Given the description of an element on the screen output the (x, y) to click on. 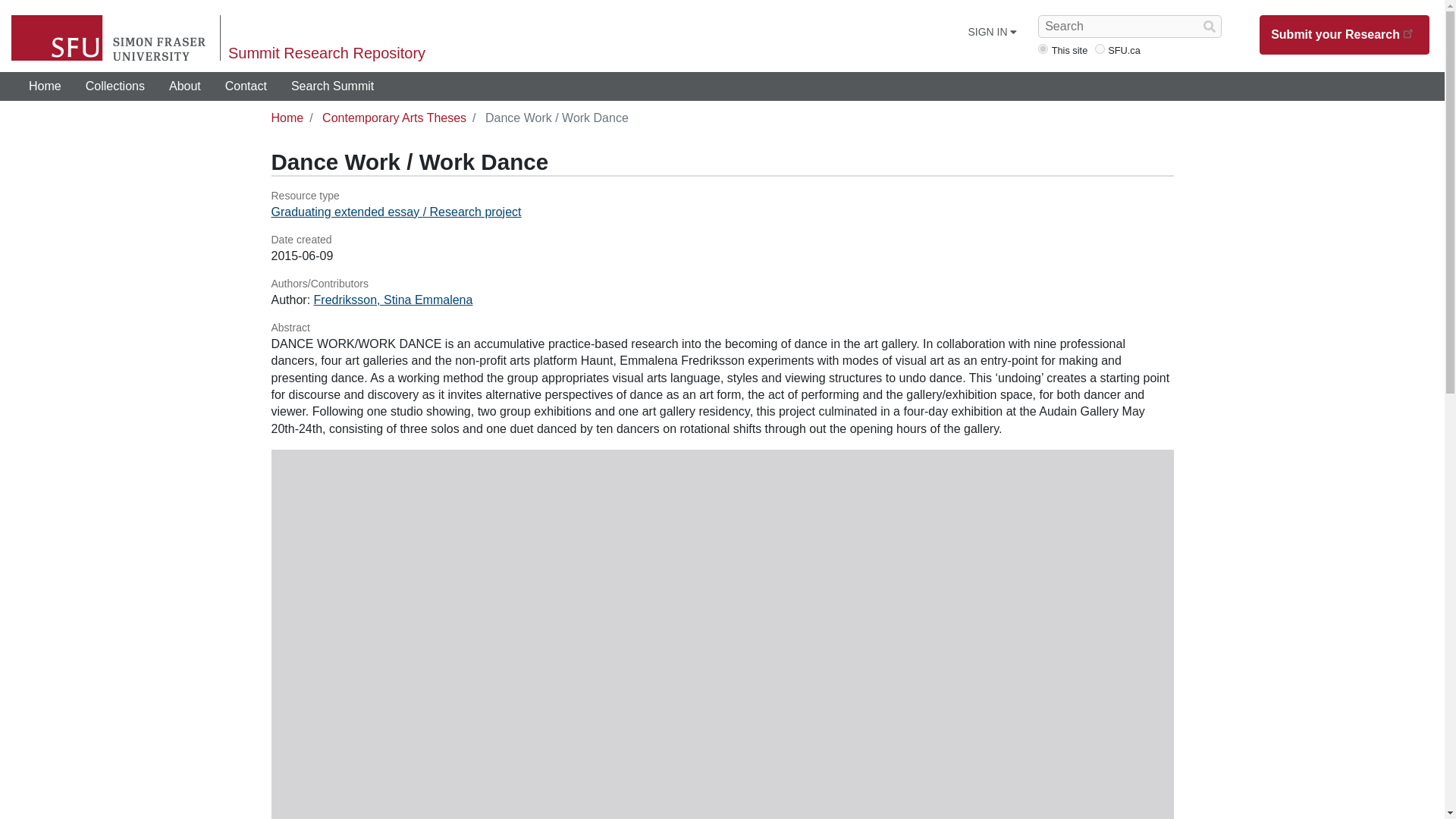
About this site (184, 86)
About (184, 86)
Contact (245, 86)
Browse SFU collections of theses and published works (115, 86)
Search Summit (332, 86)
Resource type (721, 196)
Abstract (721, 328)
SIGN IN (991, 31)
navbar-sfu (1099, 49)
